Given the description of an element on the screen output the (x, y) to click on. 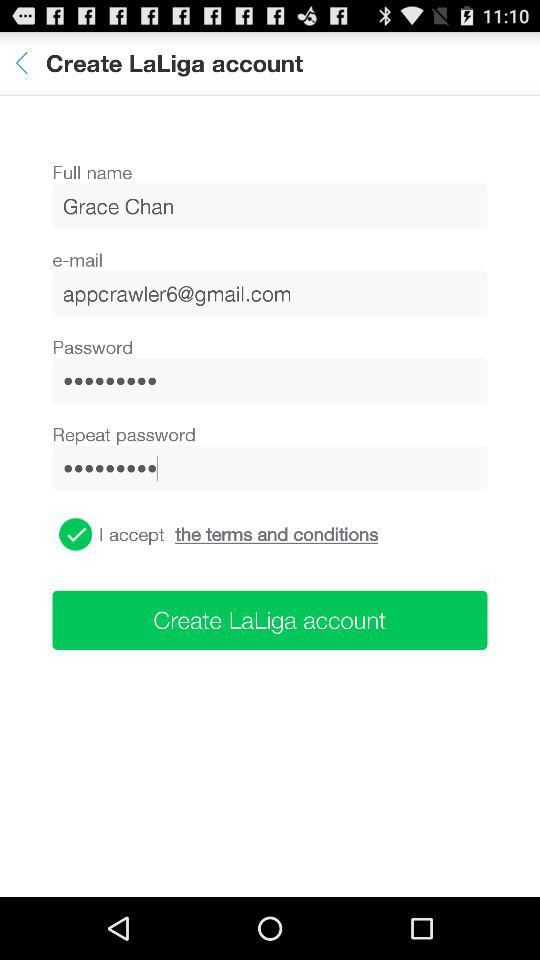
choose the icon above the e-mail icon (269, 206)
